Given the description of an element on the screen output the (x, y) to click on. 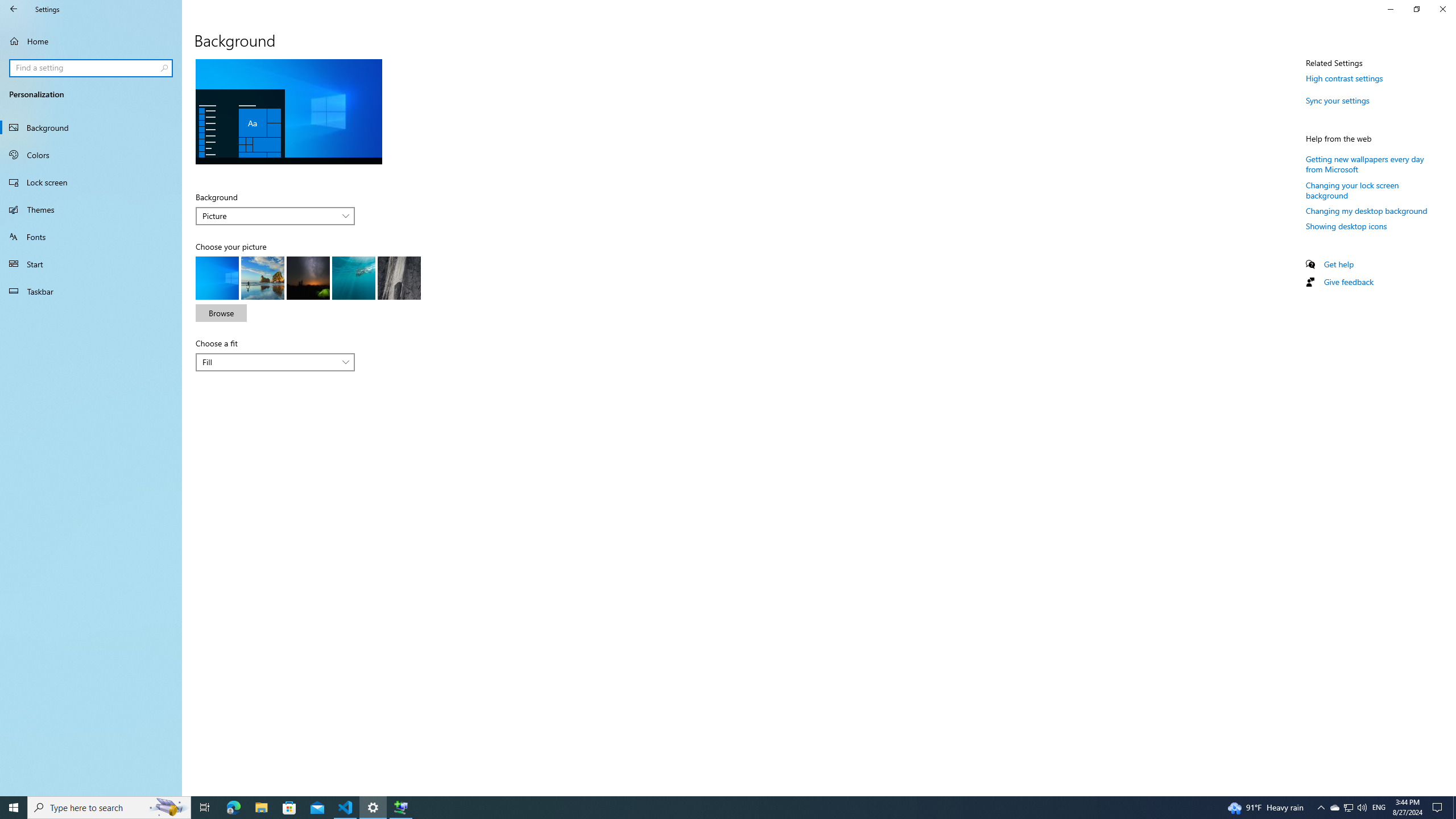
Changing my desktop background (1366, 210)
Fill (269, 361)
Showing desktop icons (1346, 225)
